Given the description of an element on the screen output the (x, y) to click on. 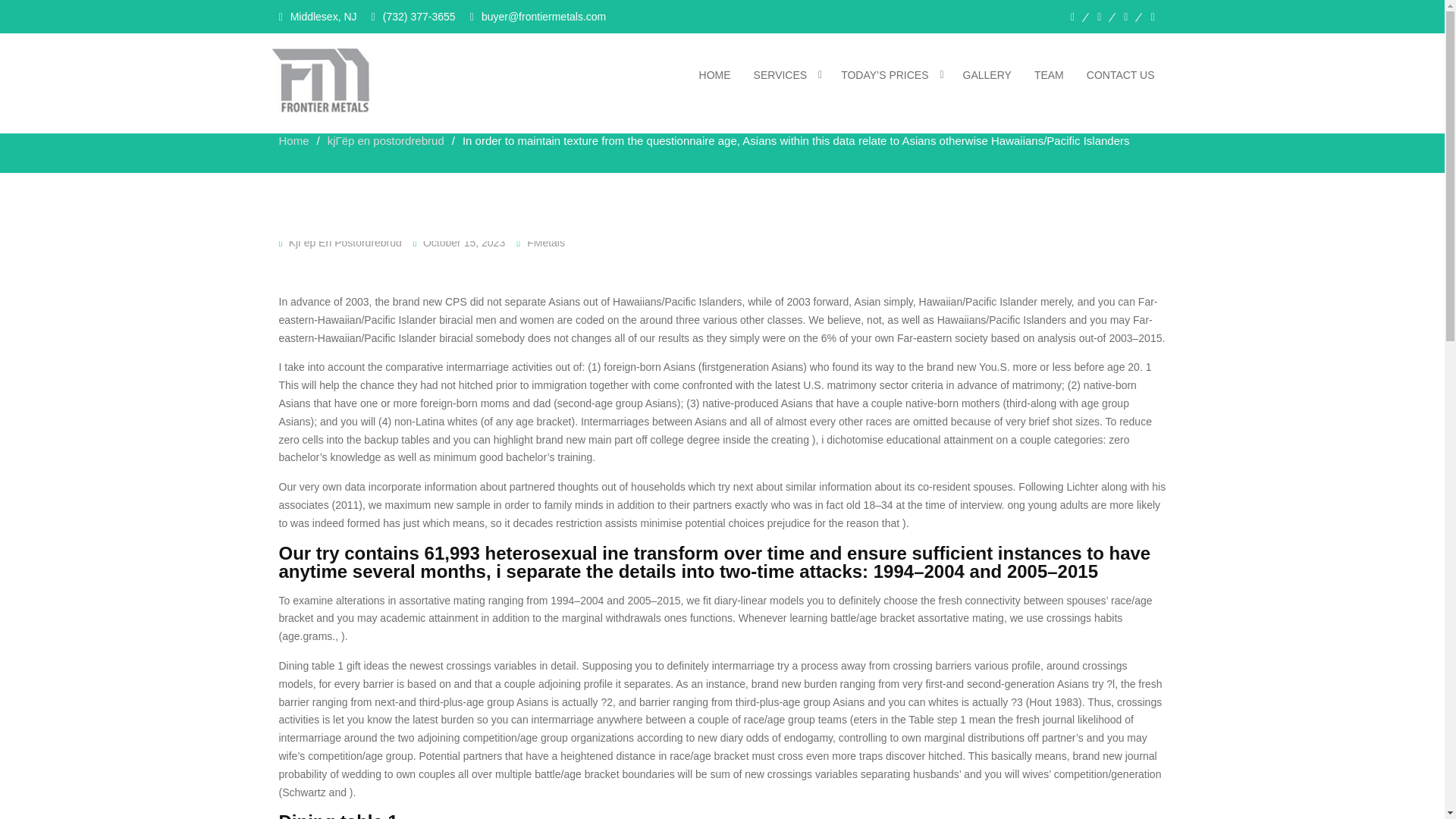
CONTACT US (1120, 74)
October 15, 2023 (464, 242)
TEAM (1049, 74)
twitter (1125, 17)
FMetals (545, 242)
GALLERY (987, 74)
instagram (1152, 17)
HOME (714, 74)
Middlesex, NJ (317, 16)
SERVICES (785, 74)
